Given the description of an element on the screen output the (x, y) to click on. 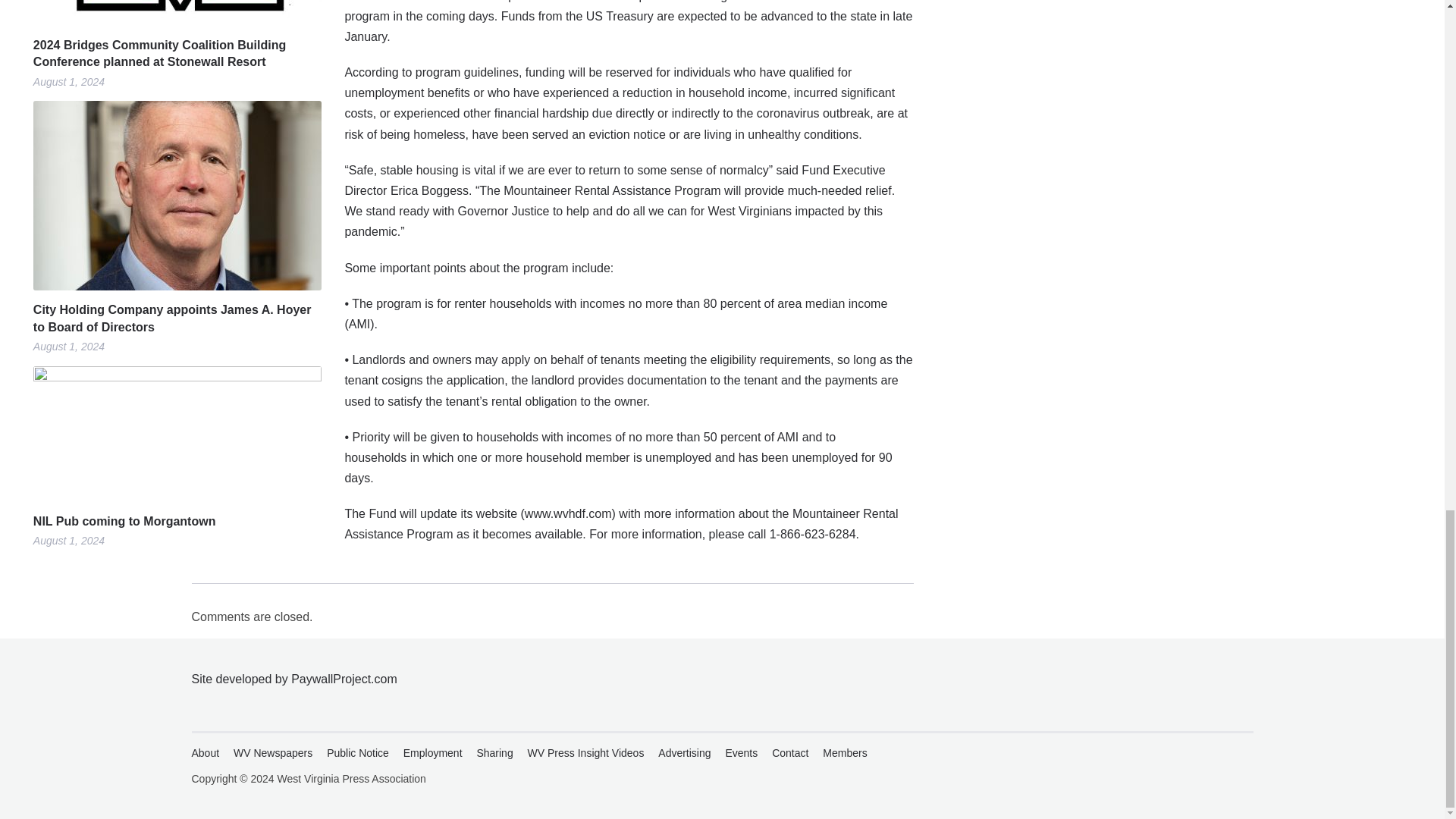
Permalink to NIL Pub coming to Morgantown (177, 434)
Permalink to NIL Pub coming to Morgantown (177, 521)
